Given the description of an element on the screen output the (x, y) to click on. 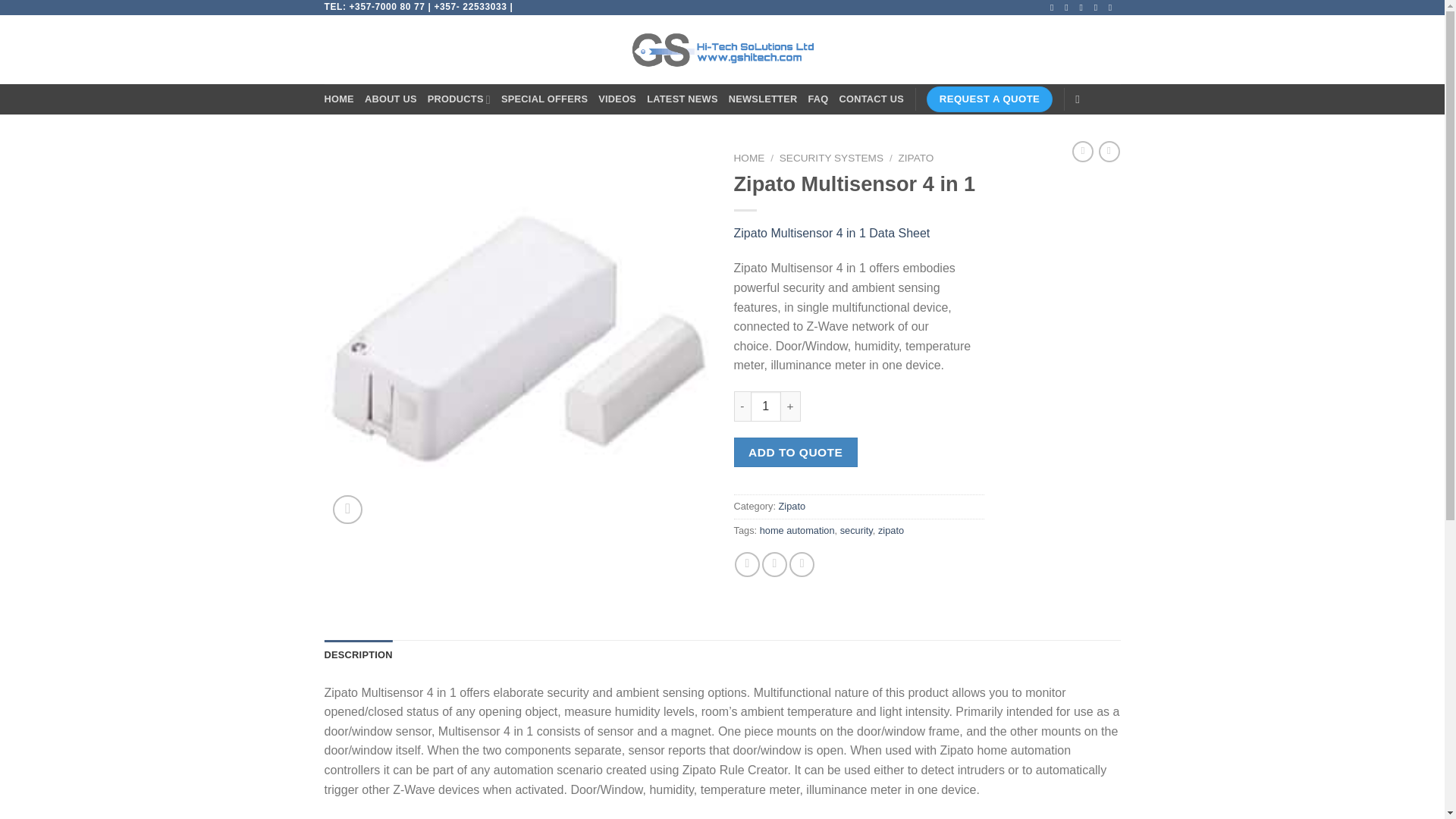
PRODUCTS (459, 99)
Qty (765, 406)
Share on Facebook (747, 564)
ABOUT US (390, 99)
Share on Twitter (774, 564)
Email to a Friend (801, 564)
Zoom (347, 509)
HOME (338, 99)
